Given the description of an element on the screen output the (x, y) to click on. 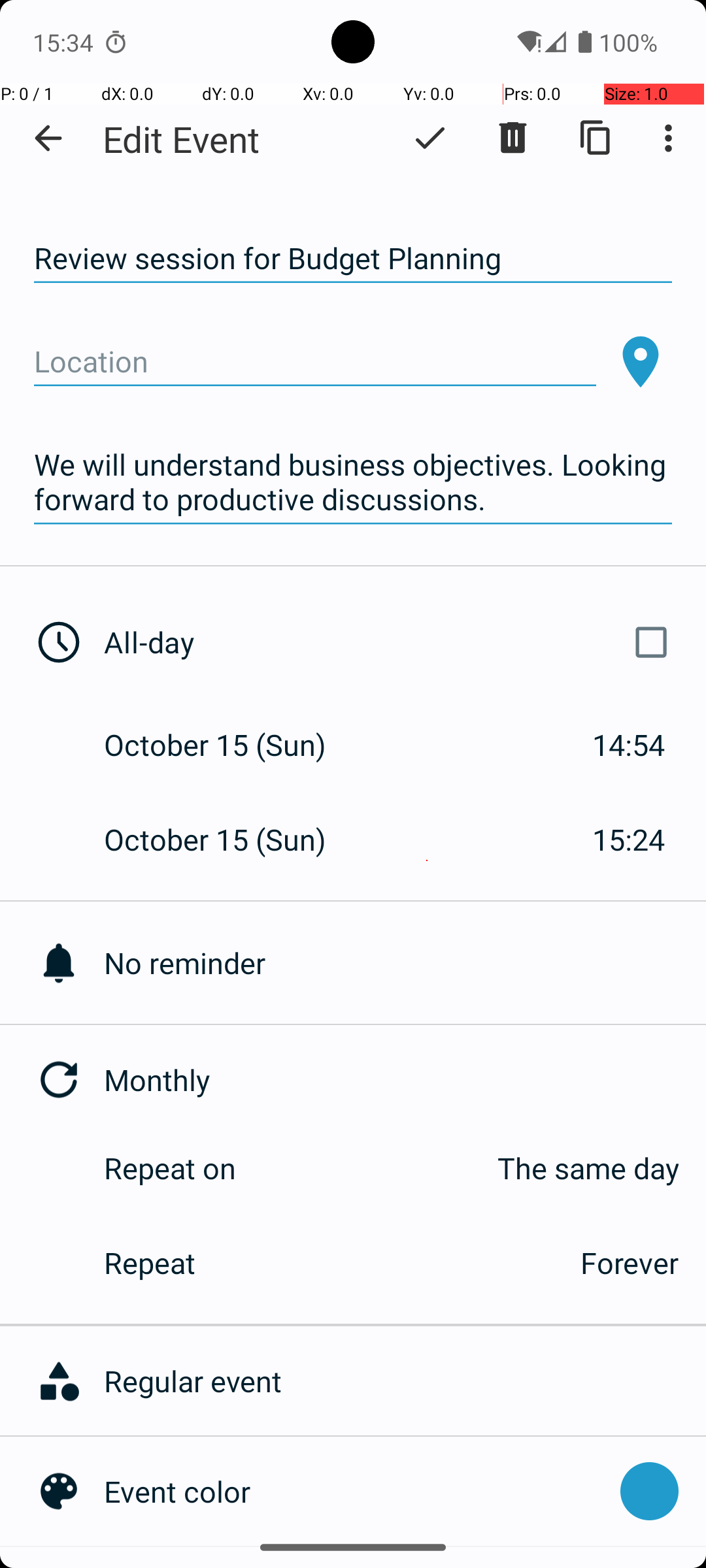
We will understand business objectives. Looking forward to productive discussions. Element type: android.widget.EditText (352, 482)
14:54 Element type: android.widget.TextView (628, 744)
15:24 Element type: android.widget.TextView (628, 838)
Repeat on Element type: android.widget.TextView (169, 1167)
The same day Element type: android.widget.TextView (470, 1167)
Repeat Element type: android.widget.TextView (328, 1262)
Forever Element type: android.widget.TextView (629, 1262)
